Given the description of an element on the screen output the (x, y) to click on. 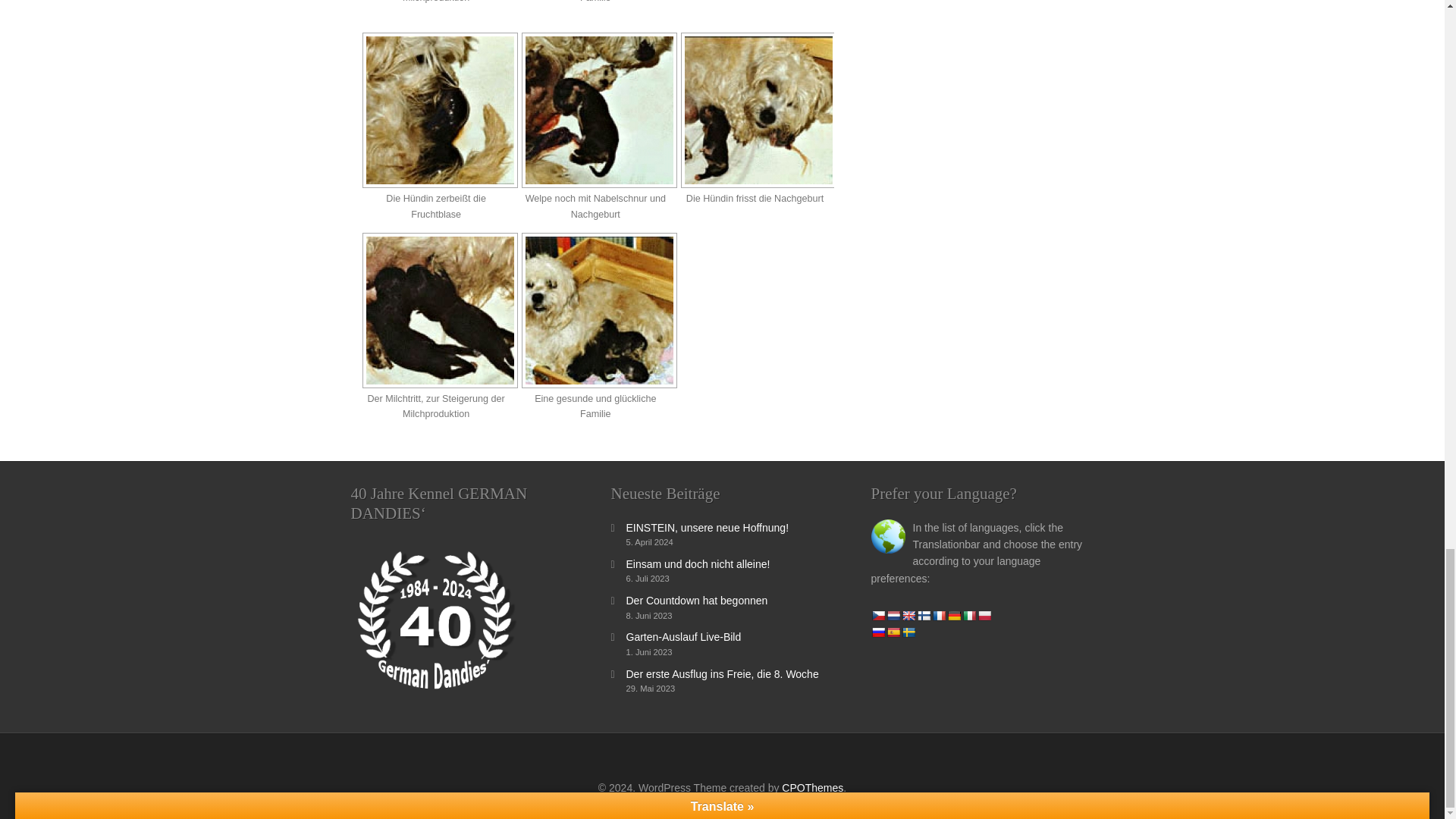
Welpe noch mit Nabelschnur und Nachgeburt (593, 110)
Bild 2 (599, 110)
Bild 1 (440, 110)
Bild 3 (758, 110)
Der Milchtritt, zur Steigerung der Milchproduktion (433, 310)
